Given the description of an element on the screen output the (x, y) to click on. 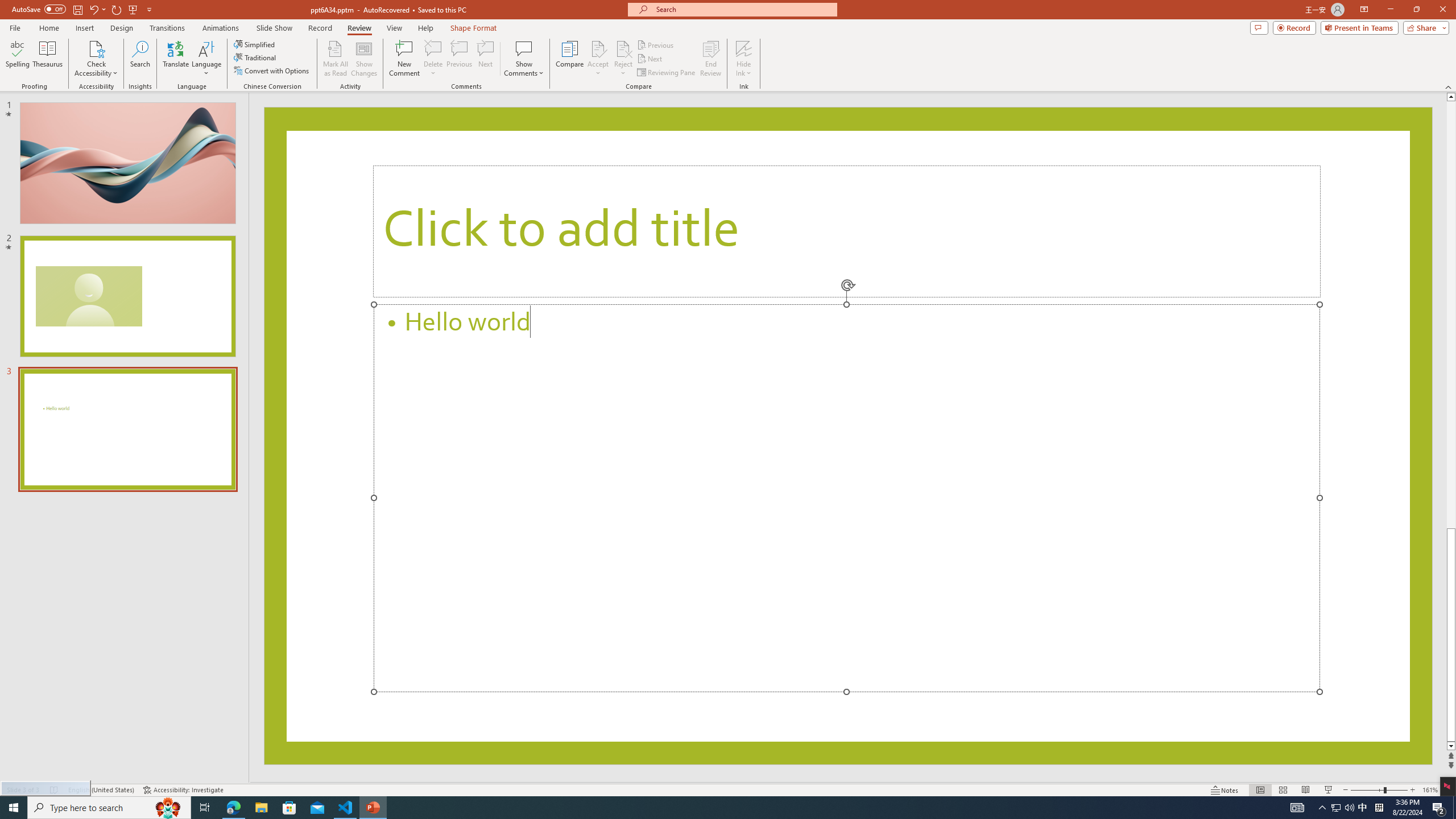
Collapse the Ribbon (1448, 86)
Language (206, 58)
